Given the description of an element on the screen output the (x, y) to click on. 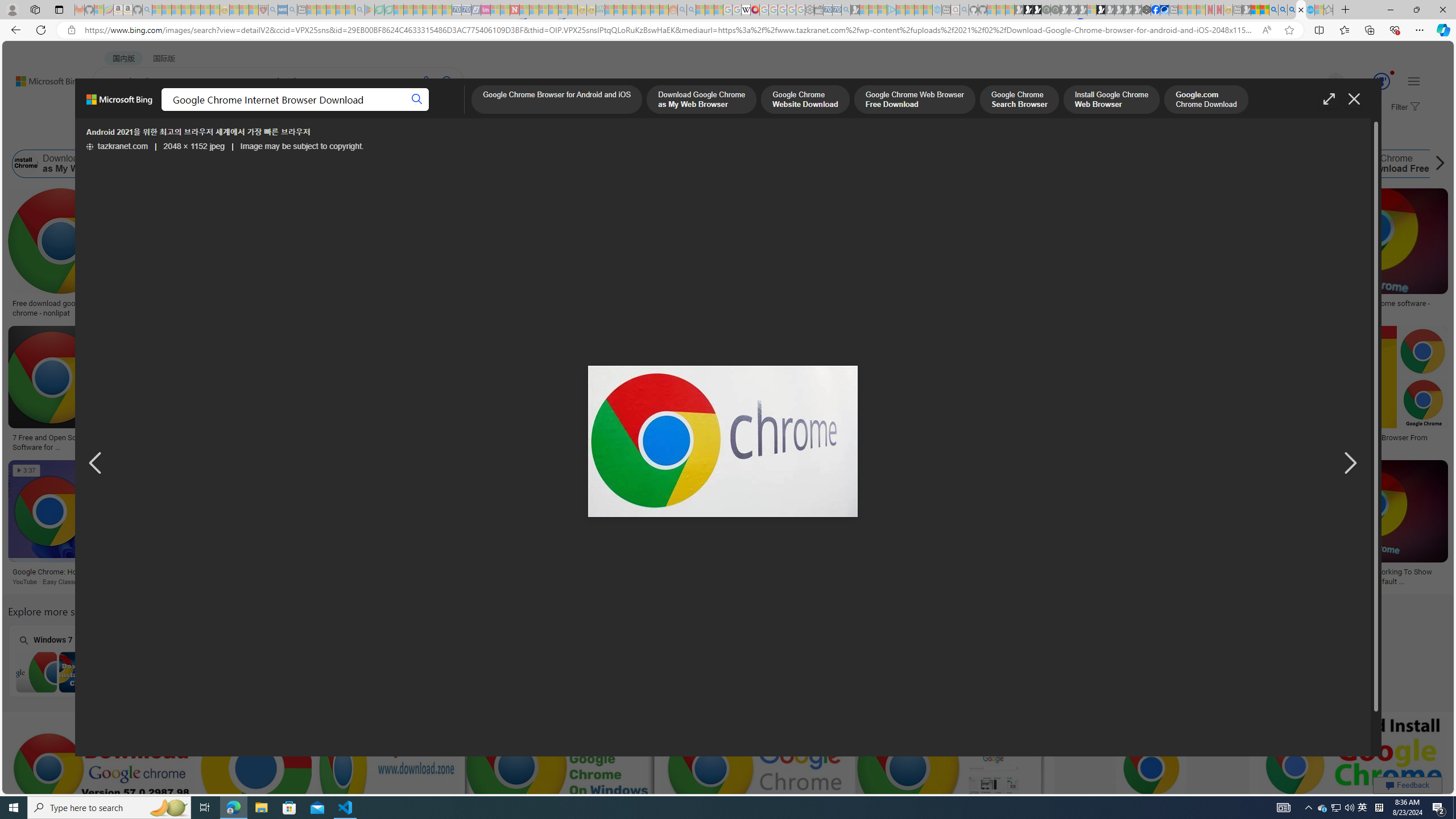
Next image result (1349, 463)
What Is The Fastest Browser To Use With Windows 10 (1034, 576)
Download Google Chrome as My Web Browser (87, 163)
MY BING (156, 111)
Google Chrome Web Browser Free Download (378, 163)
IMAGES (205, 112)
wizardsgase - BlogSave (846, 254)
MSNBC - MSN - Sleeping (608, 9)
Bing AI - Search (1272, 9)
How to download google chrome apps - snoml (484, 441)
Watch video (279, 198)
